Given the description of an element on the screen output the (x, y) to click on. 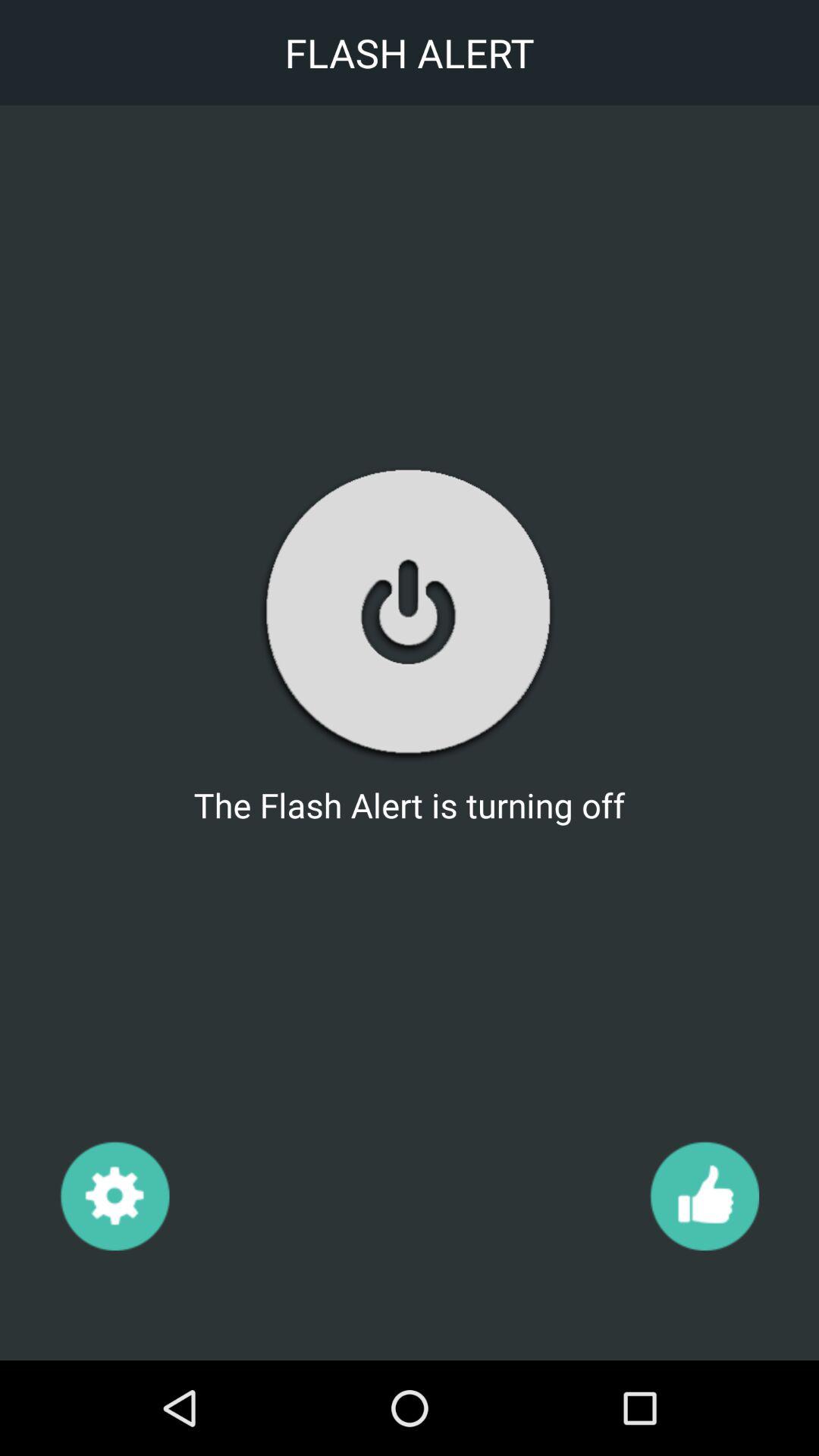
turn it off (409, 612)
